Given the description of an element on the screen output the (x, y) to click on. 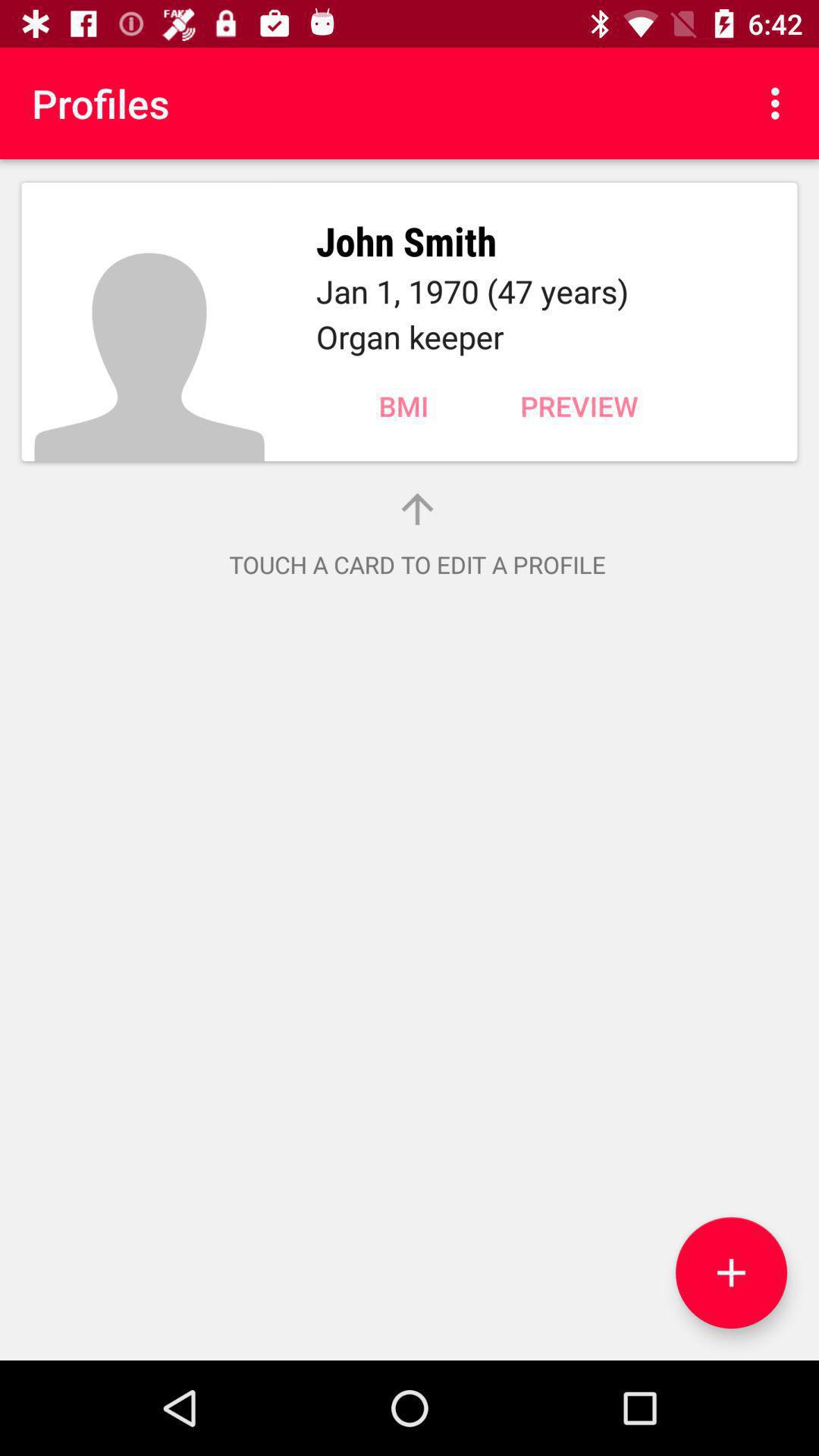
turn on the item below organ keeper icon (578, 405)
